Given the description of an element on the screen output the (x, y) to click on. 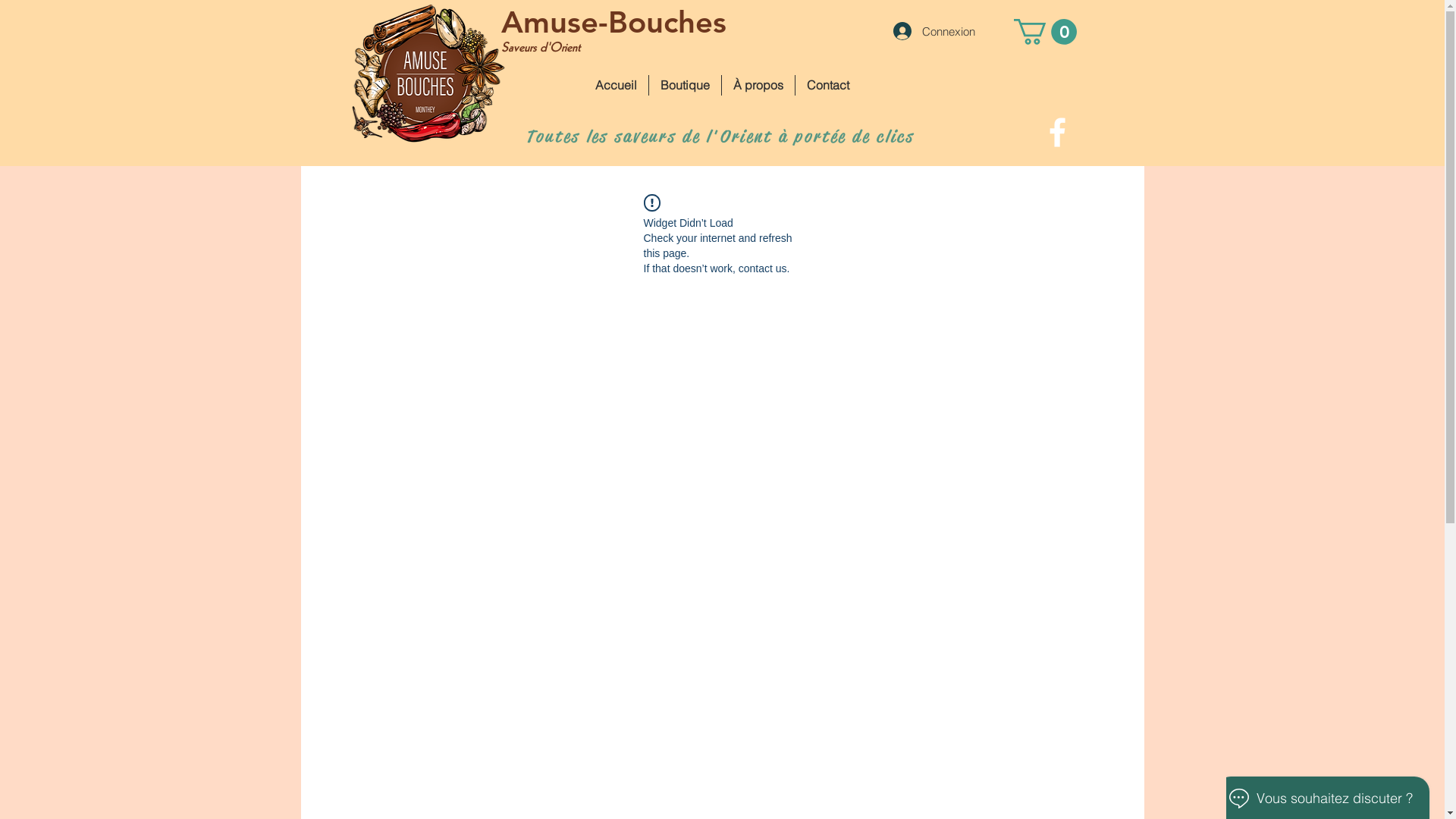
0 Element type: text (1044, 31)
Amuse-Bouches Element type: text (612, 21)
Saveurs d'Orient Element type: text (540, 47)
Accueil Element type: text (615, 85)
Contact Element type: text (827, 85)
Connexion Element type: text (933, 30)
Boutique Element type: text (685, 85)
